Given the description of an element on the screen output the (x, y) to click on. 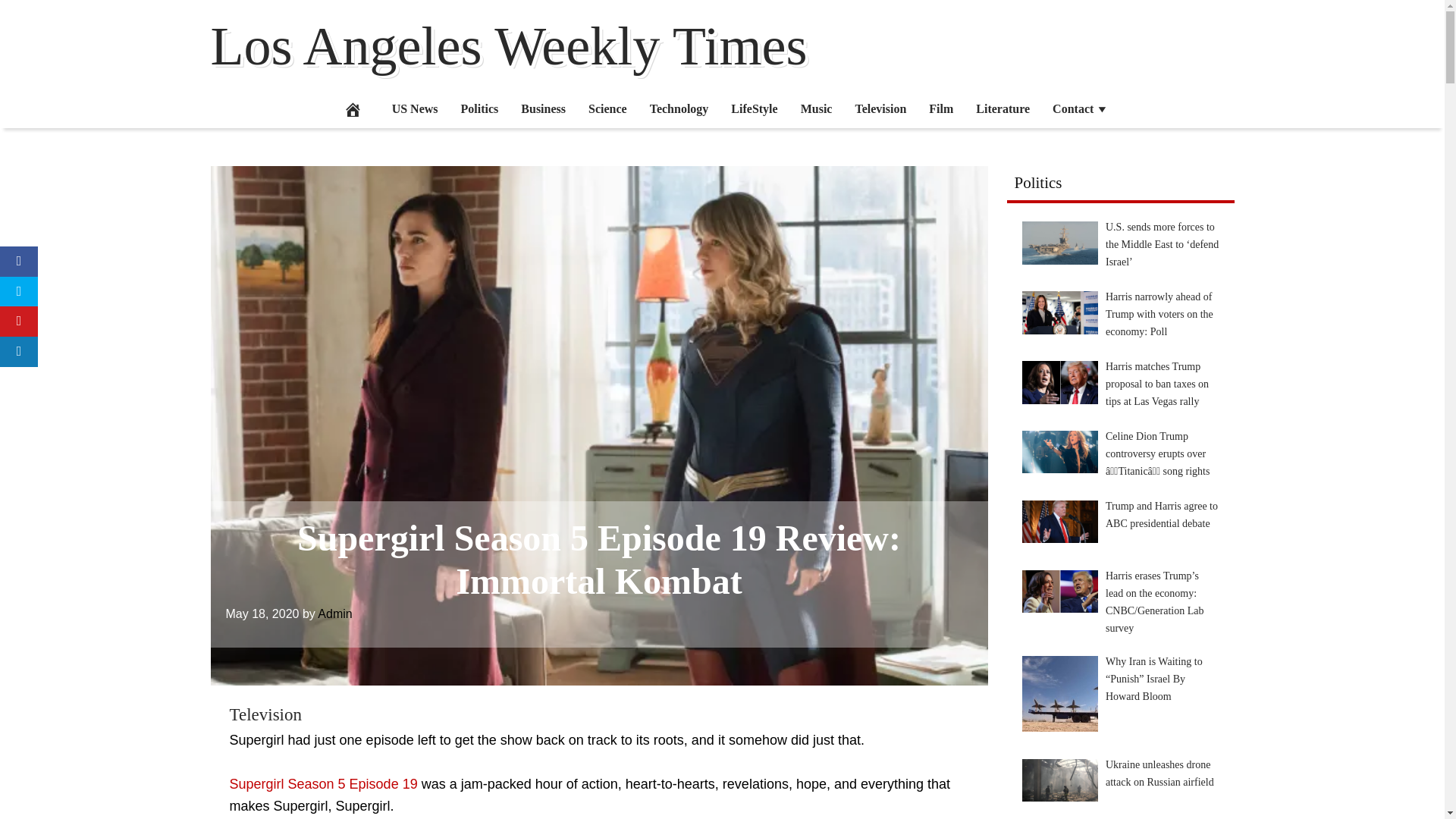
Television (880, 108)
Literature (1002, 108)
LifeStyle (754, 108)
Politics (480, 108)
Business (542, 108)
Trump and Harris agree to ABC presidential debate (1059, 521)
Contact (1080, 108)
Ukraine unleashes drone attack on Russian airfield (1059, 780)
Los Angeles Weekly Times (509, 45)
